Given the description of an element on the screen output the (x, y) to click on. 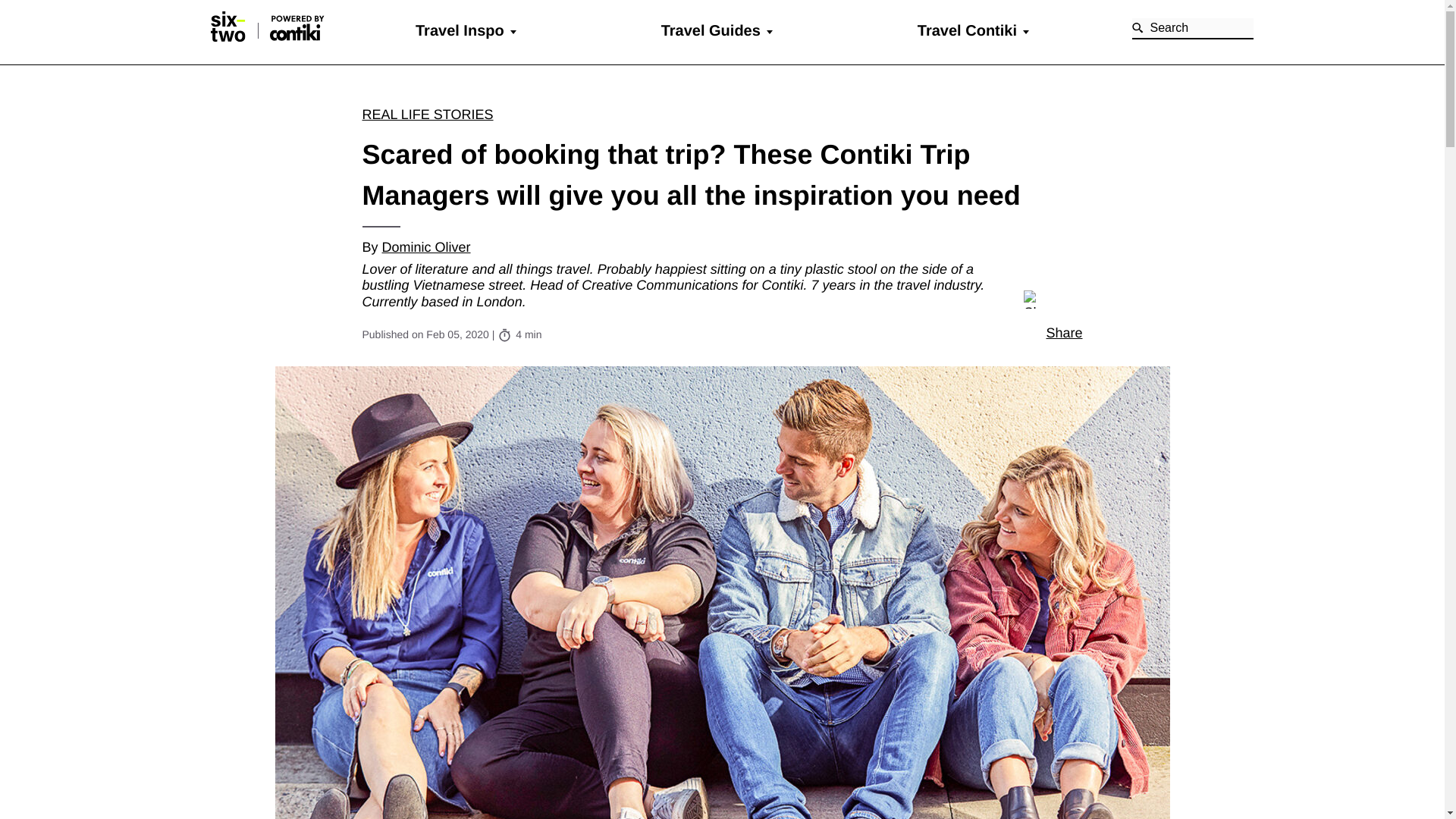
Travel Guides (710, 30)
Travel Inspo (458, 30)
Travel Contiki (966, 30)
